Given the description of an element on the screen output the (x, y) to click on. 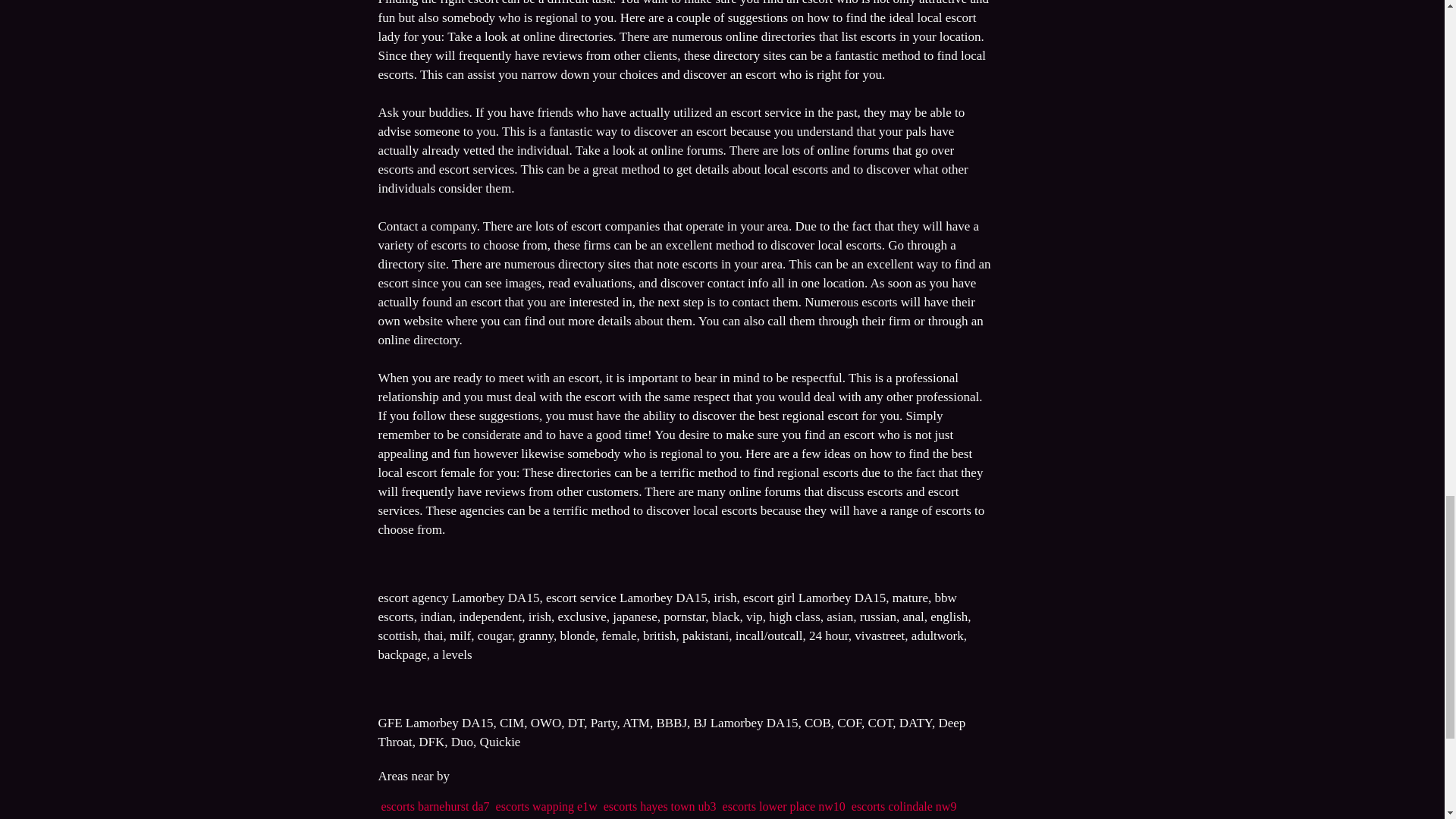
escorts colindale nw9 (903, 806)
escorts hayes town ub3 (660, 806)
escorts lower place nw10 (783, 806)
escorts wapping e1w (546, 806)
escorts barnehurst da7 (434, 806)
